Given the description of an element on the screen output the (x, y) to click on. 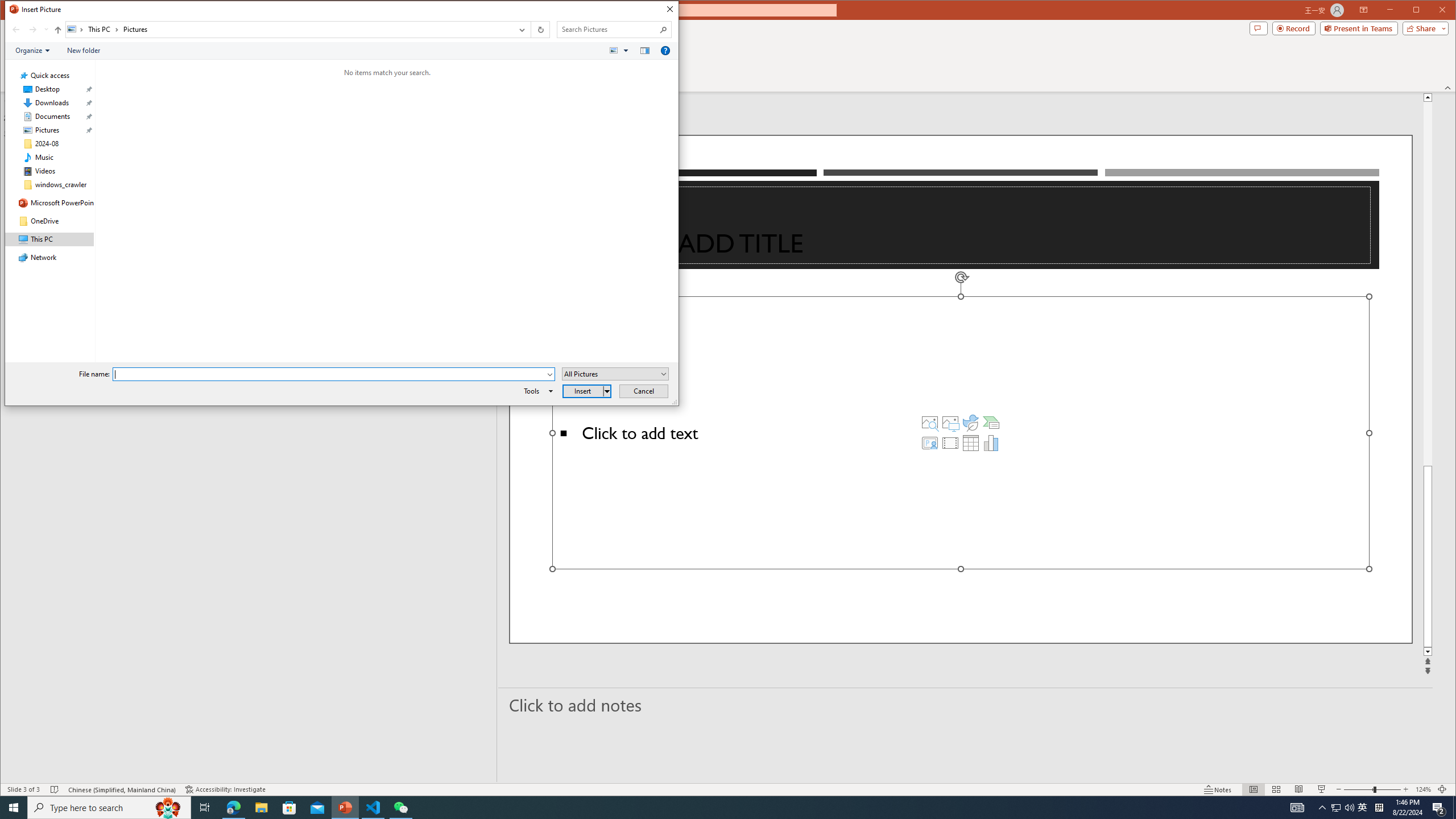
Minimize (1419, 11)
Notes  (1217, 789)
AutomationID: 4105 (1297, 807)
Insert Cameo (929, 443)
Page up (1427, 283)
Views (621, 50)
PowerPoint - 1 running window (345, 807)
Zoom Out (1358, 789)
Open (663, 373)
Insert (586, 391)
Ribbon Display Options (1335, 807)
Zoom 124% (1364, 9)
